Given the description of an element on the screen output the (x, y) to click on. 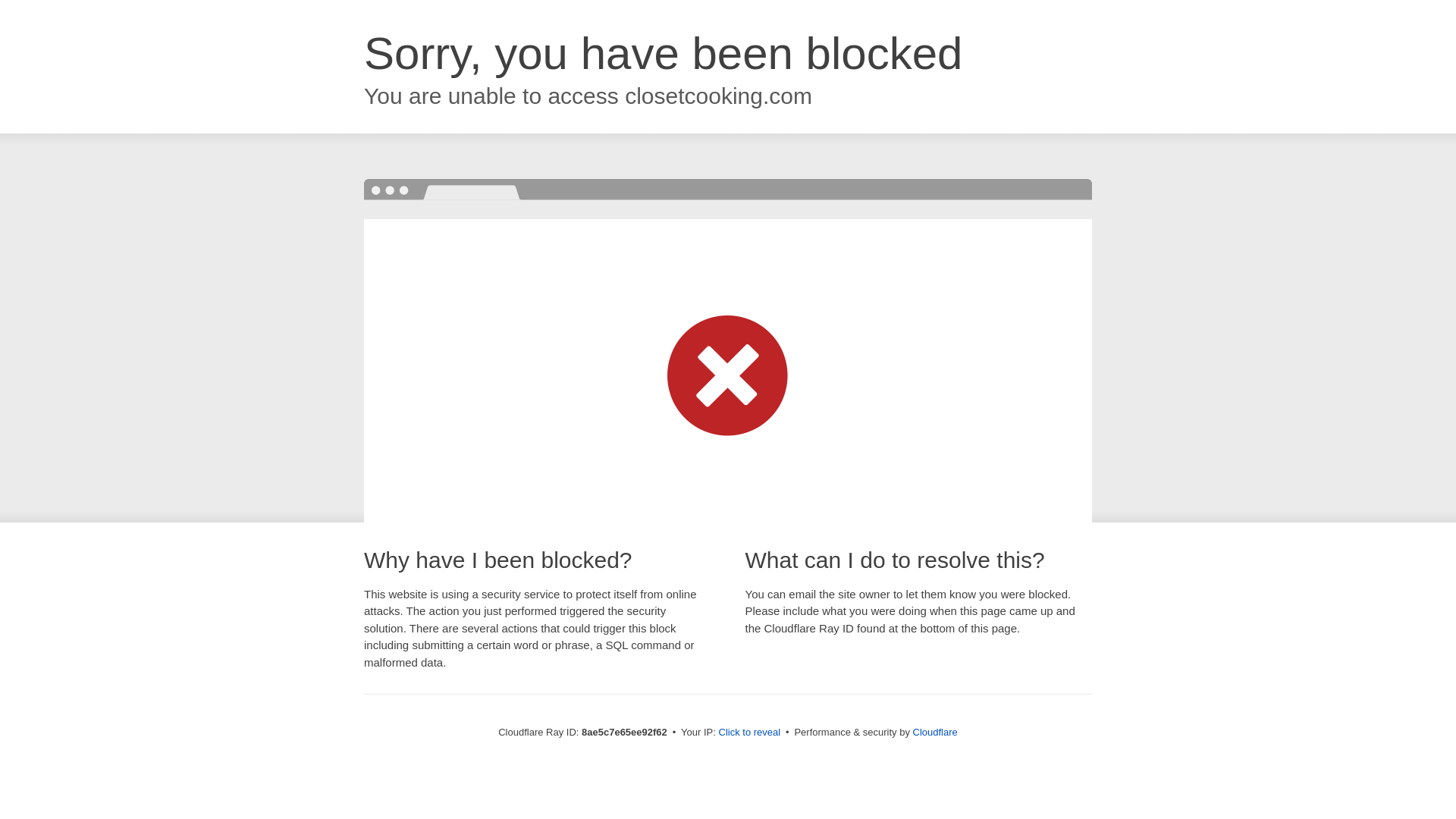
Cloudflare (935, 731)
Click to reveal (749, 732)
